Given the description of an element on the screen output the (x, y) to click on. 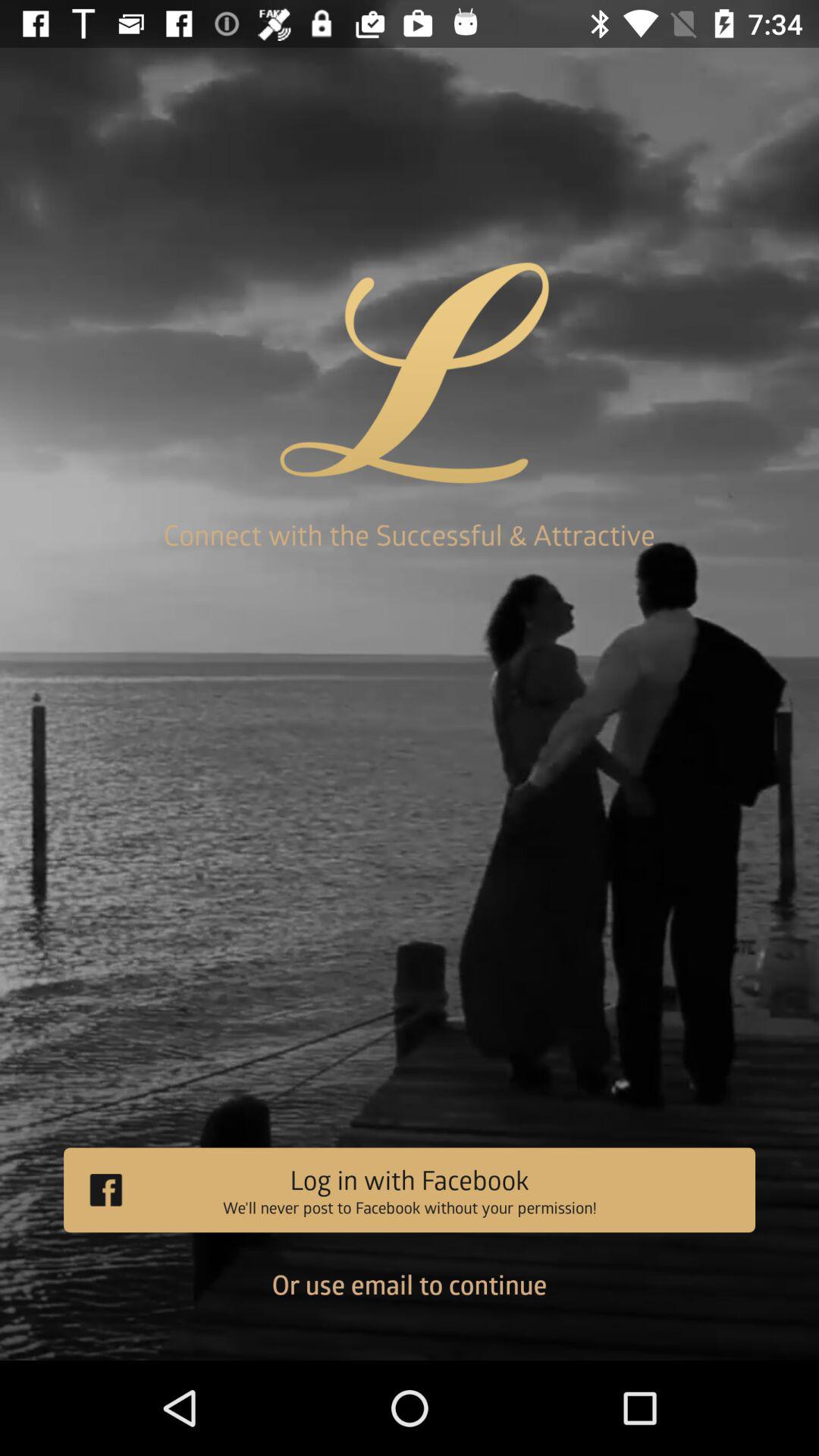
tap the item below log in with item (409, 1296)
